Given the description of an element on the screen output the (x, y) to click on. 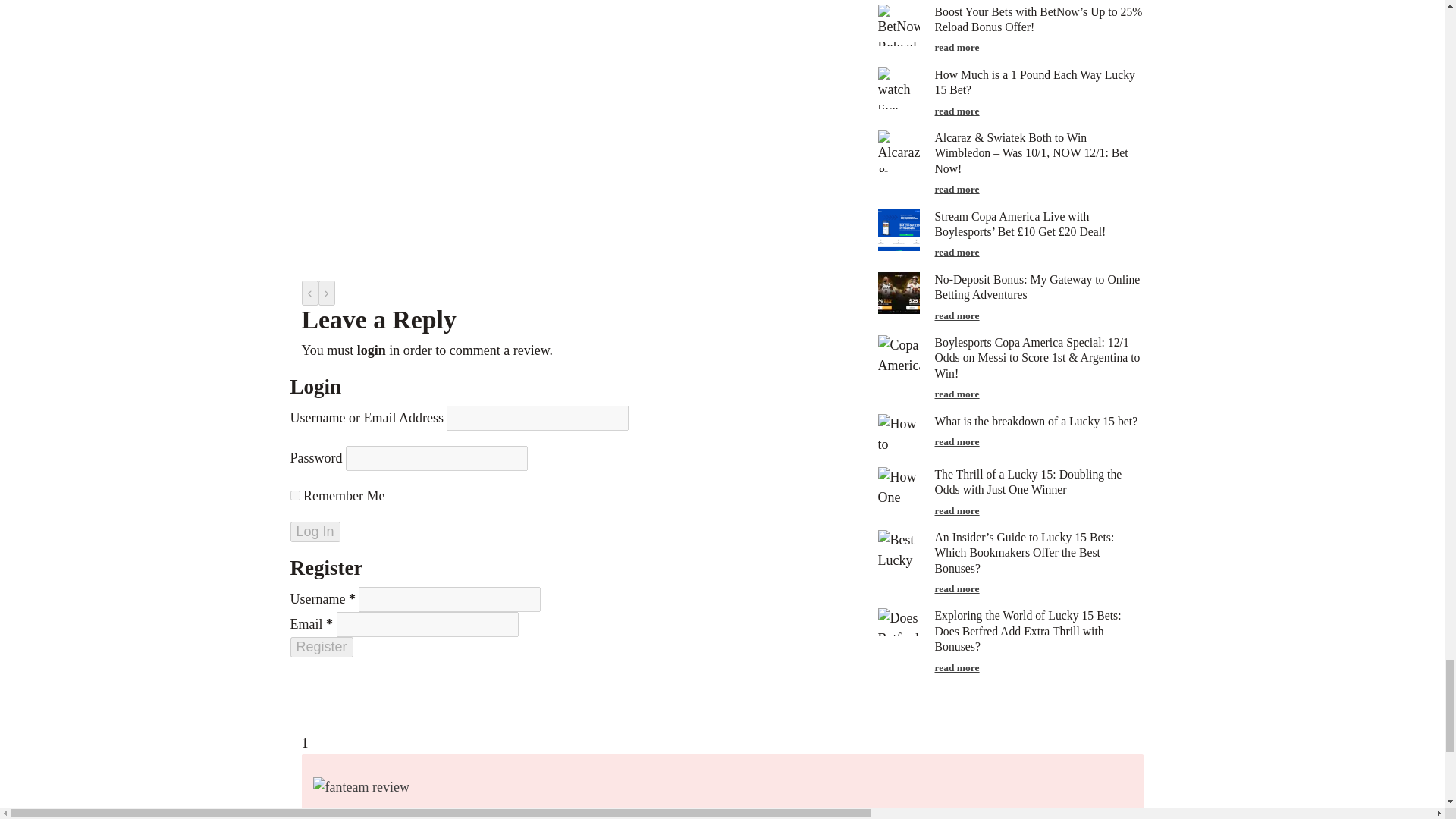
Register (320, 647)
Log In (314, 531)
forever (294, 495)
